Given the description of an element on the screen output the (x, y) to click on. 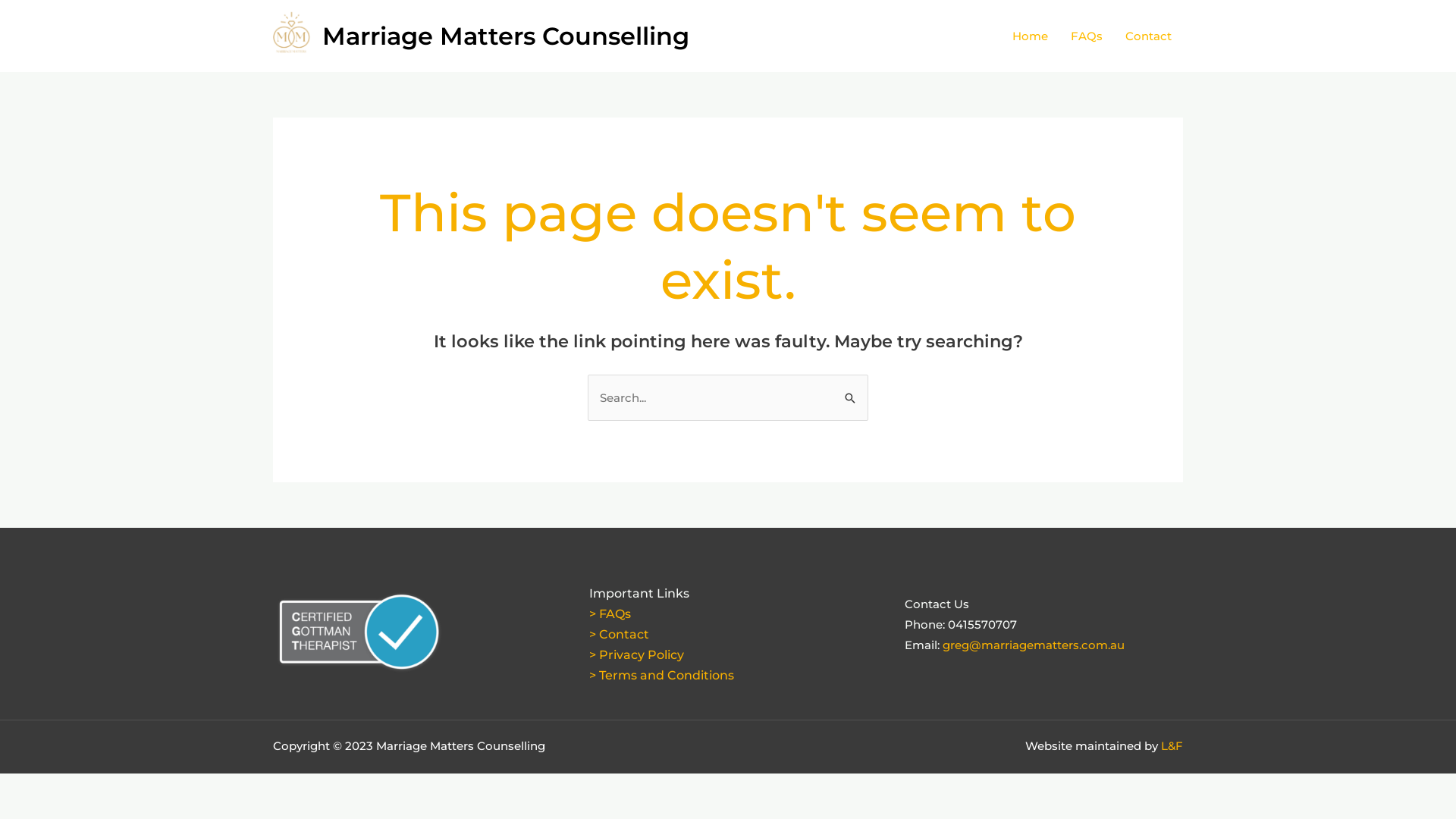
FAQs Element type: text (1086, 35)
> FAQs Element type: text (609, 613)
Marriage Matters Counselling Element type: text (505, 35)
Contact Element type: text (1148, 35)
greg@marriagematters.com.au Element type: text (1033, 644)
Search Element type: text (851, 389)
L&F Element type: text (1172, 745)
Home Element type: text (1030, 35)
> Contact Element type: text (619, 634)
> Terms and Conditions Element type: text (661, 675)
> Privacy Policy Element type: text (636, 654)
